Given the description of an element on the screen output the (x, y) to click on. 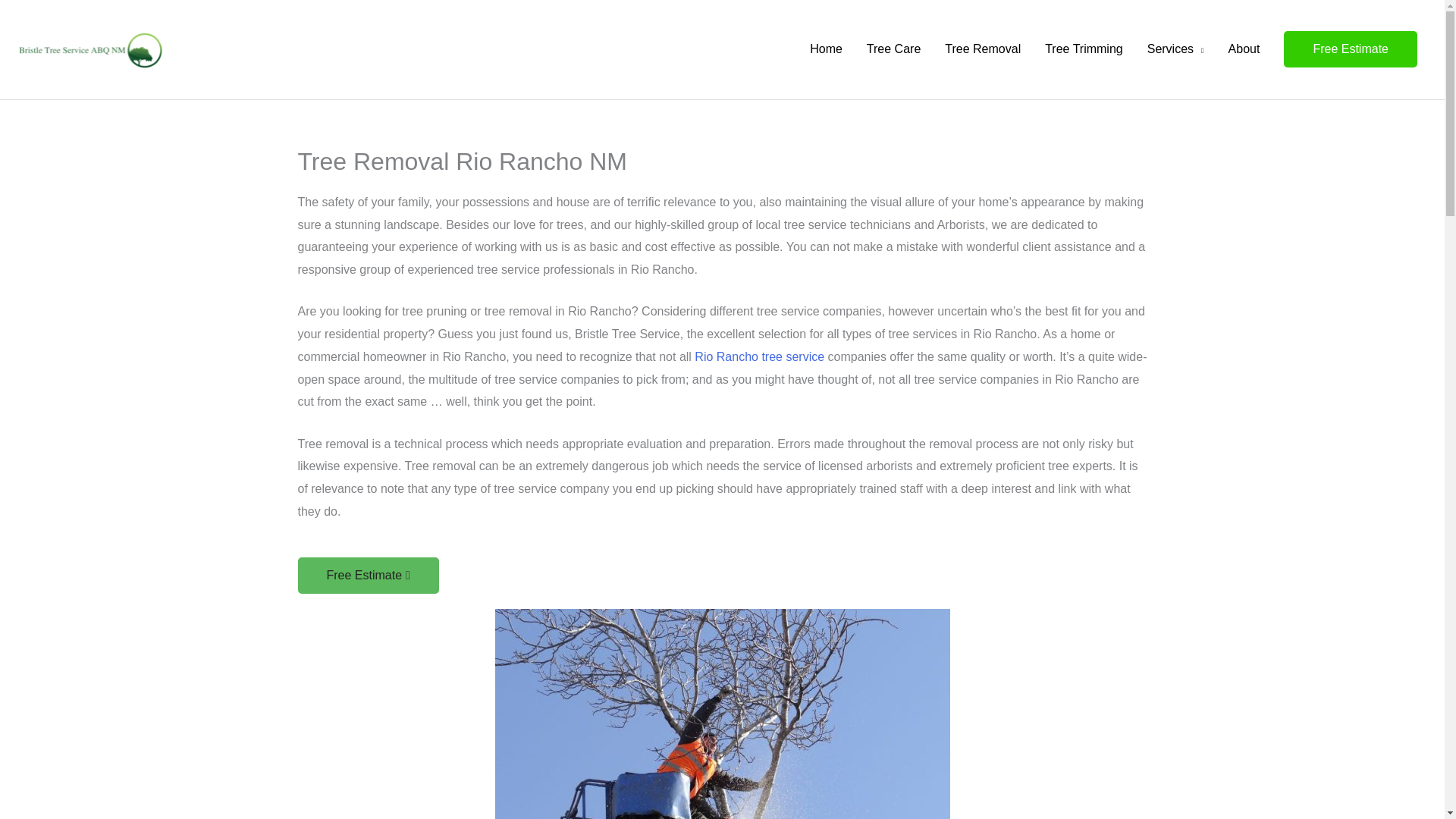
Tree Care (893, 49)
Rio Rancho tree service (759, 356)
Free Estimate (367, 575)
Free Estimate (1350, 49)
Home (825, 49)
About (1243, 49)
Tree Trimming (1083, 49)
Tree Removal (982, 49)
Services (1175, 49)
